Given the description of an element on the screen output the (x, y) to click on. 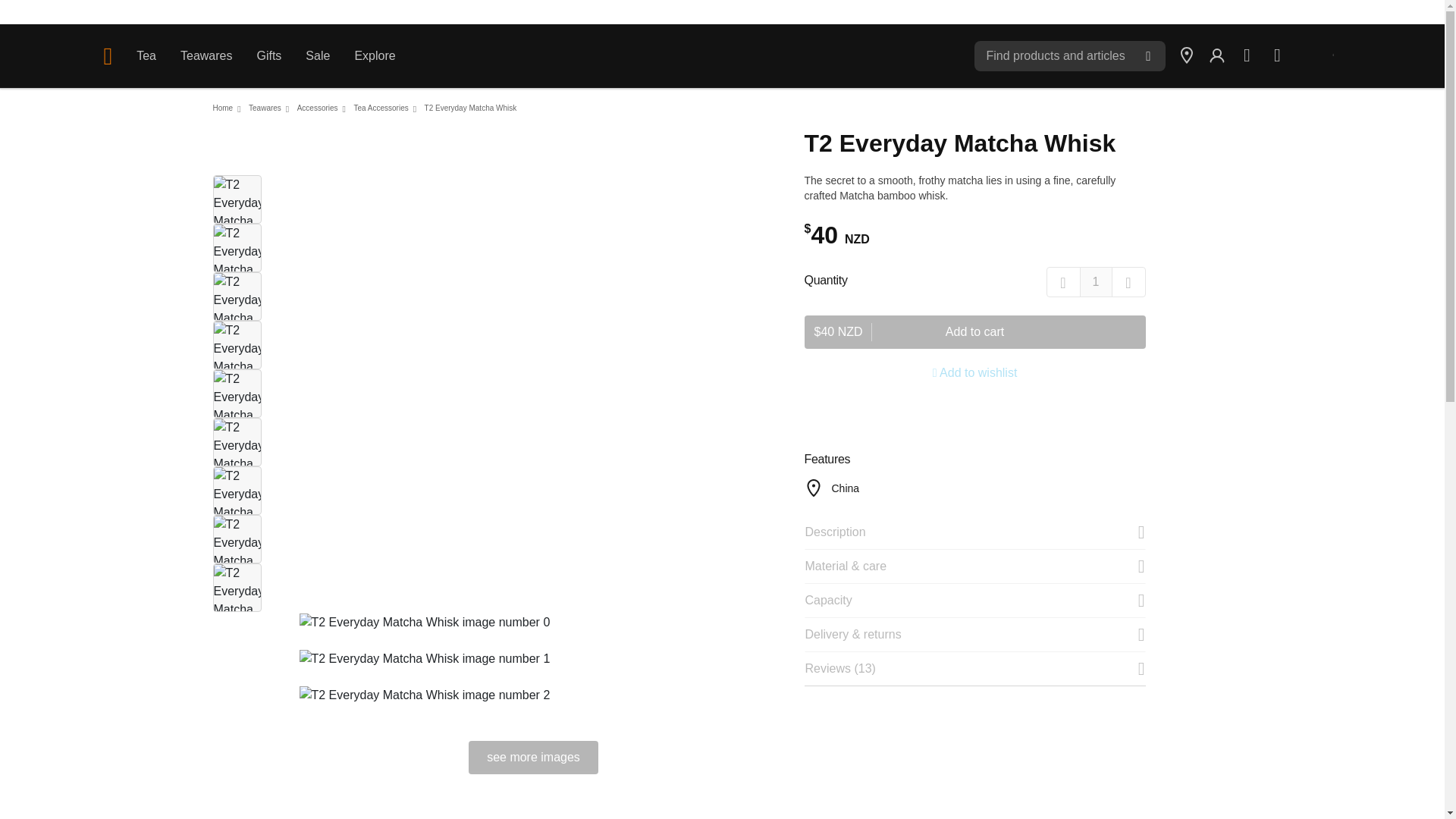
Find a store (1185, 55)
Sign in (1216, 55)
Cart 0 Items (1276, 55)
Wishlist (1246, 55)
1 (1096, 281)
